Given the description of an element on the screen output the (x, y) to click on. 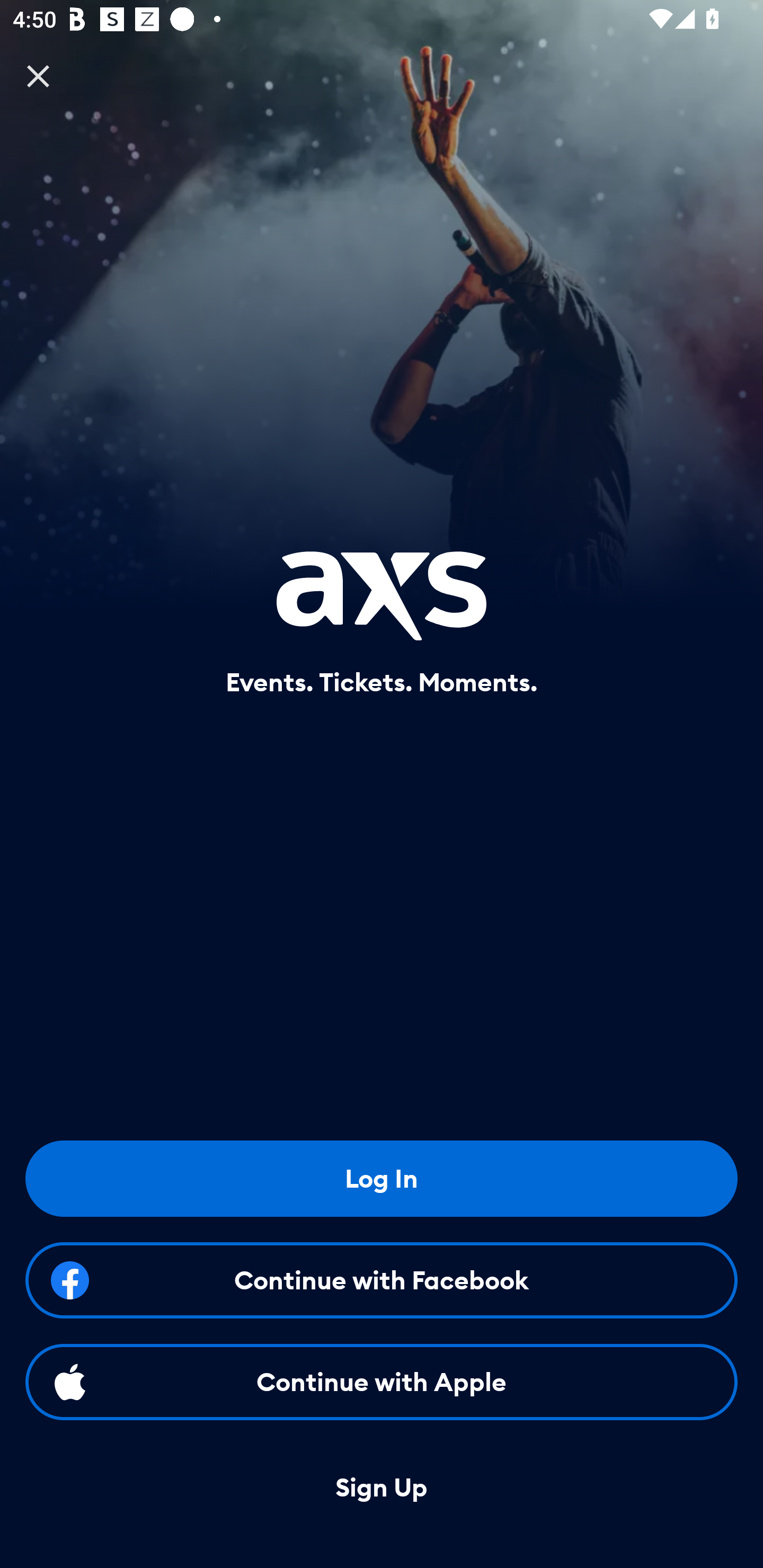
Log In (381, 1177)
Continue with Facebook (381, 1279)
Continue with Apple (381, 1381)
Sign Up (381, 1487)
